Given the description of an element on the screen output the (x, y) to click on. 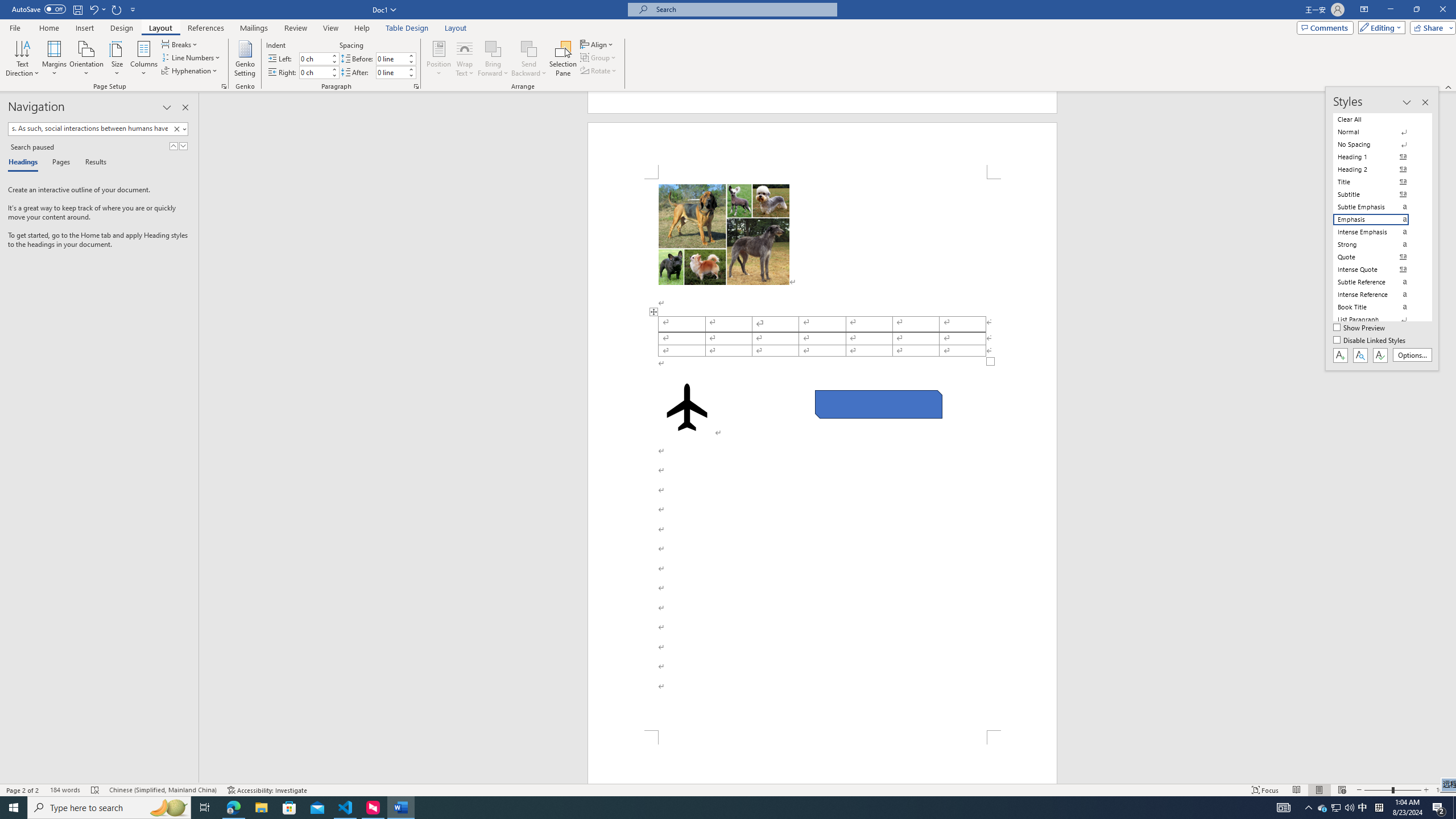
Genko Setting... (244, 58)
More (411, 69)
Group (599, 56)
Size (116, 58)
Breaks (179, 44)
Selection Pane... (563, 58)
Indent Left (314, 58)
Columns (143, 58)
